Given the description of an element on the screen output the (x, y) to click on. 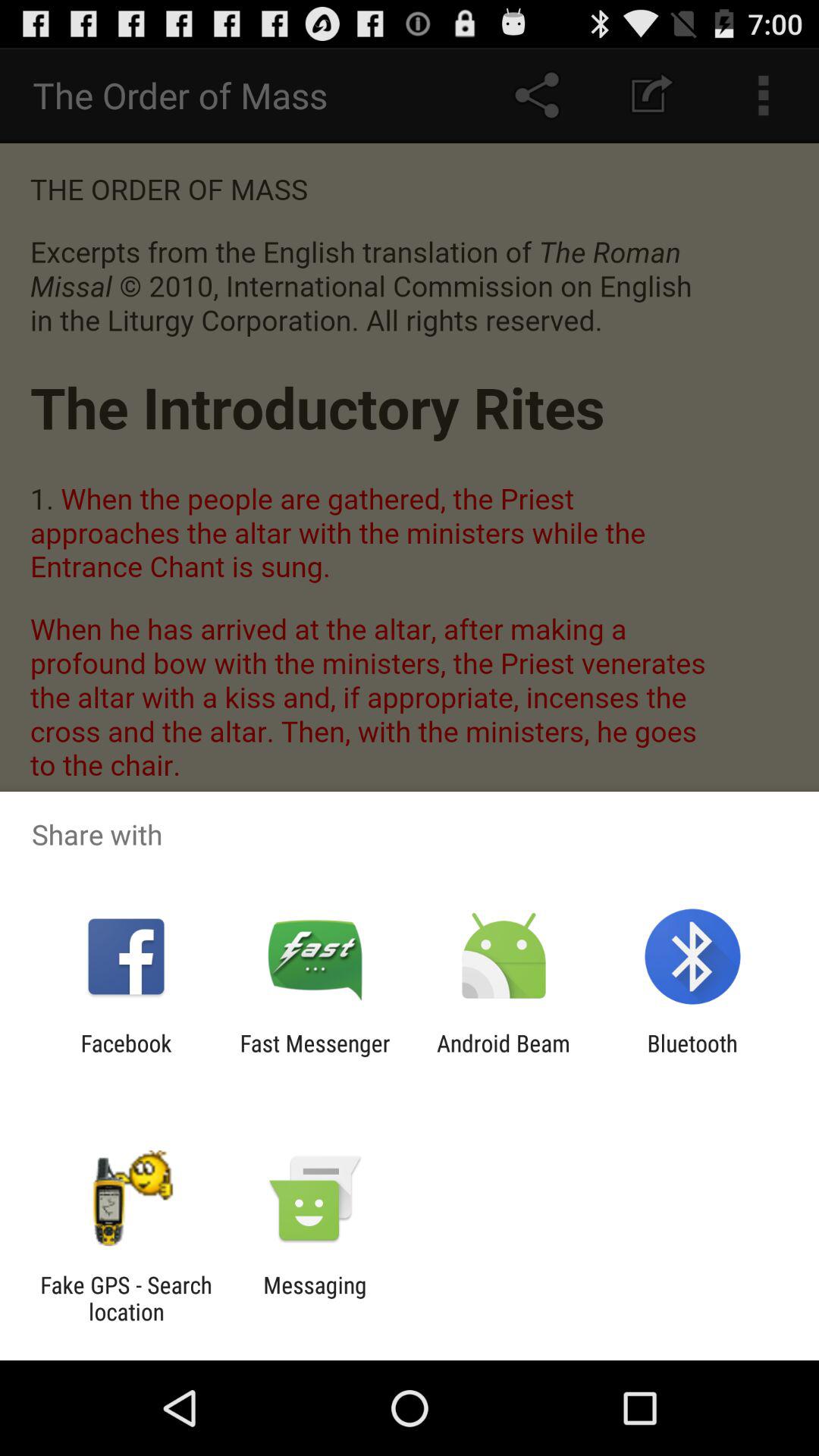
choose app to the right of android beam (692, 1056)
